Given the description of an element on the screen output the (x, y) to click on. 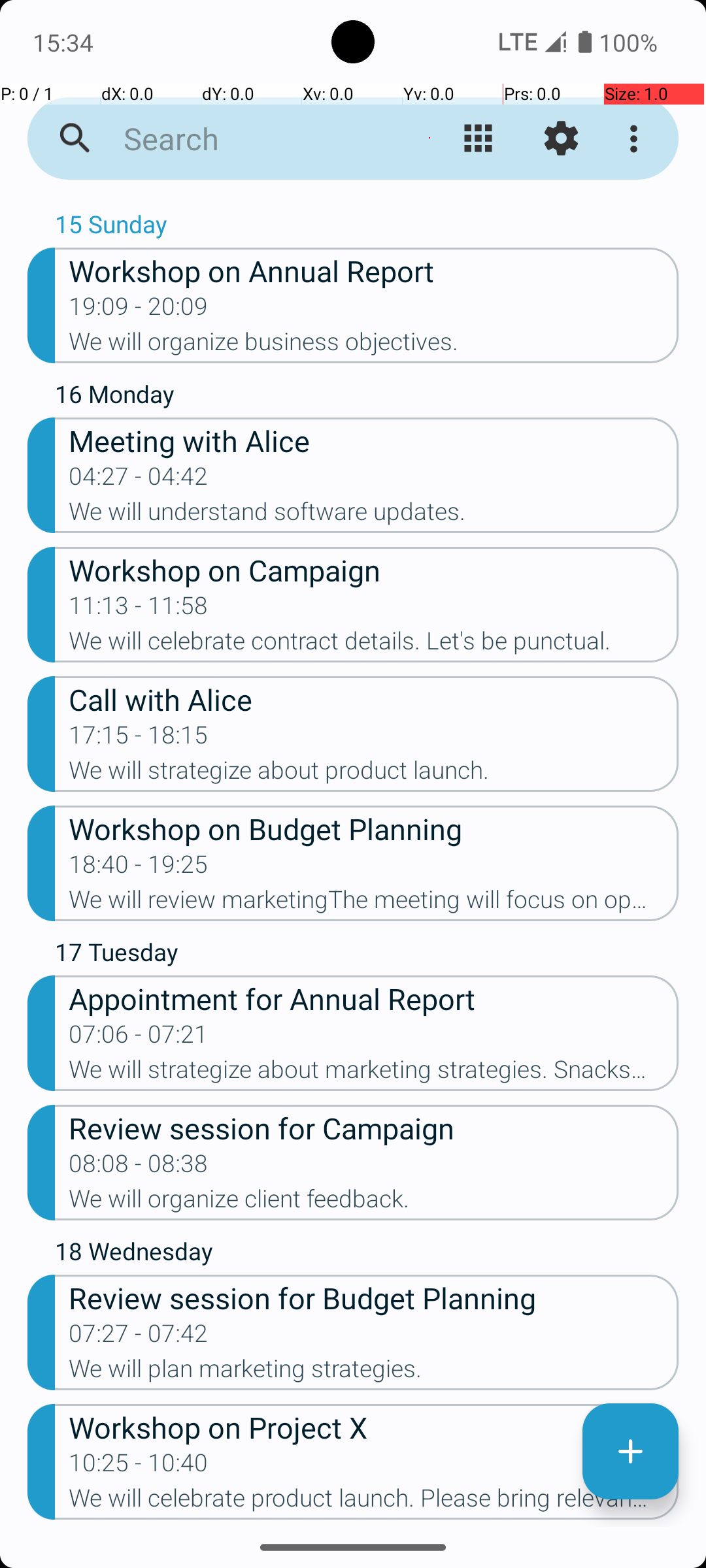
19:09 - 20:09 Element type: android.widget.TextView (137, 309)
We will organize business objectives. Element type: android.widget.TextView (373, 345)
04:27 - 04:42 Element type: android.widget.TextView (137, 479)
We will understand software updates. Element type: android.widget.TextView (373, 515)
11:13 - 11:58 Element type: android.widget.TextView (137, 609)
We will celebrate contract details. Let's be punctual. Element type: android.widget.TextView (373, 644)
17:15 - 18:15 Element type: android.widget.TextView (137, 738)
We will strategize about product launch. Element type: android.widget.TextView (373, 773)
18:40 - 19:25 Element type: android.widget.TextView (137, 867)
We will review marketingThe meeting will focus on optimizing our current marketing tactics and exploring new channels for outreach.  strategies. Element type: android.widget.TextView (373, 903)
07:06 - 07:21 Element type: android.widget.TextView (137, 1037)
We will strategize about marketing strategies. Snacks will be provided. Element type: android.widget.TextView (373, 1073)
08:08 - 08:38 Element type: android.widget.TextView (137, 1167)
We will organize client feedback. Element type: android.widget.TextView (373, 1202)
07:27 - 07:42 Element type: android.widget.TextView (137, 1337)
We will plan marketing strategies. Element type: android.widget.TextView (373, 1372)
10:25 - 10:40 Element type: android.widget.TextView (137, 1466)
We will celebrate product launch. Please bring relevant documents. Element type: android.widget.TextView (373, 1501)
